Given the description of an element on the screen output the (x, y) to click on. 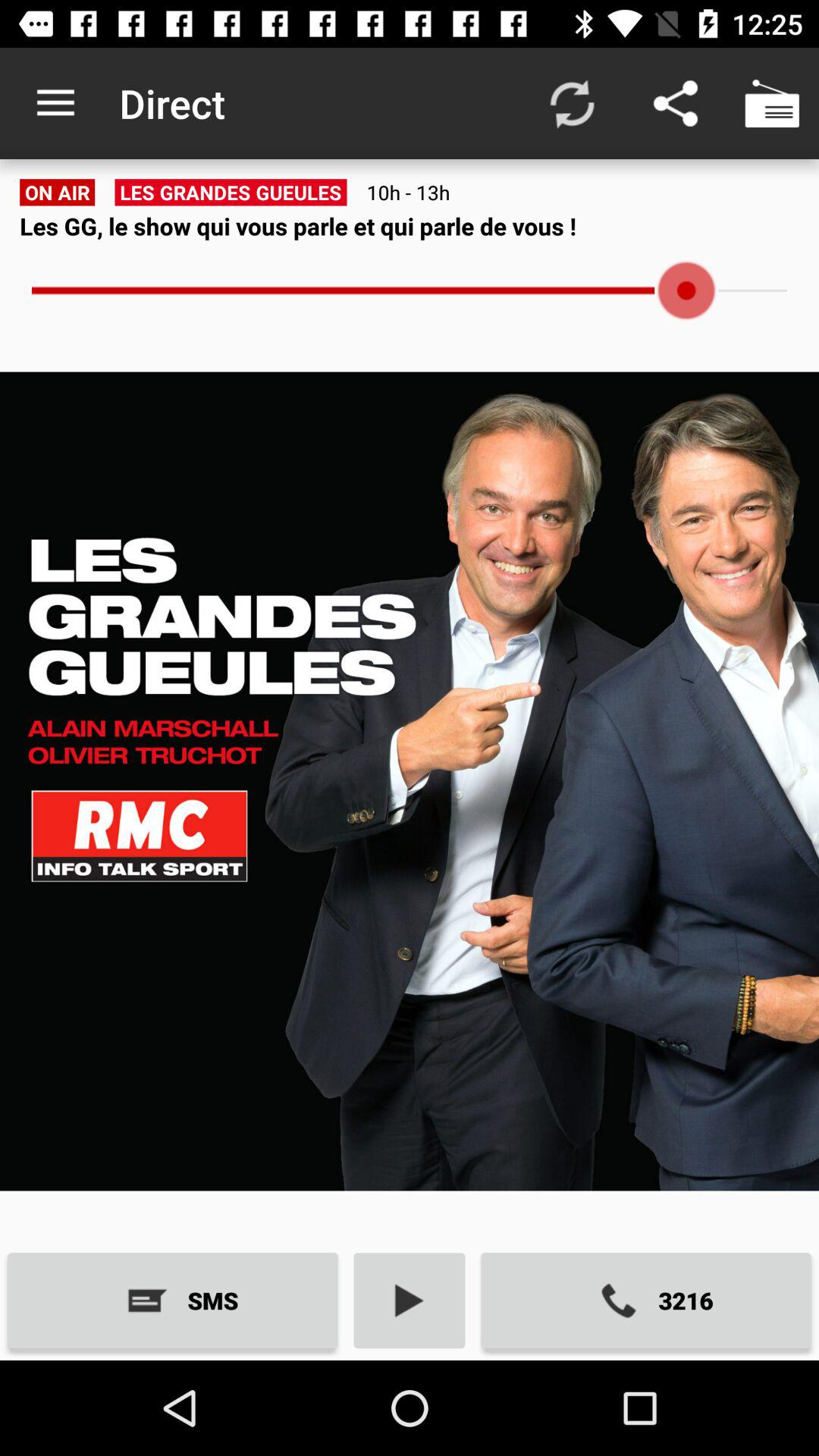
launch icon next to sms (409, 1300)
